Given the description of an element on the screen output the (x, y) to click on. 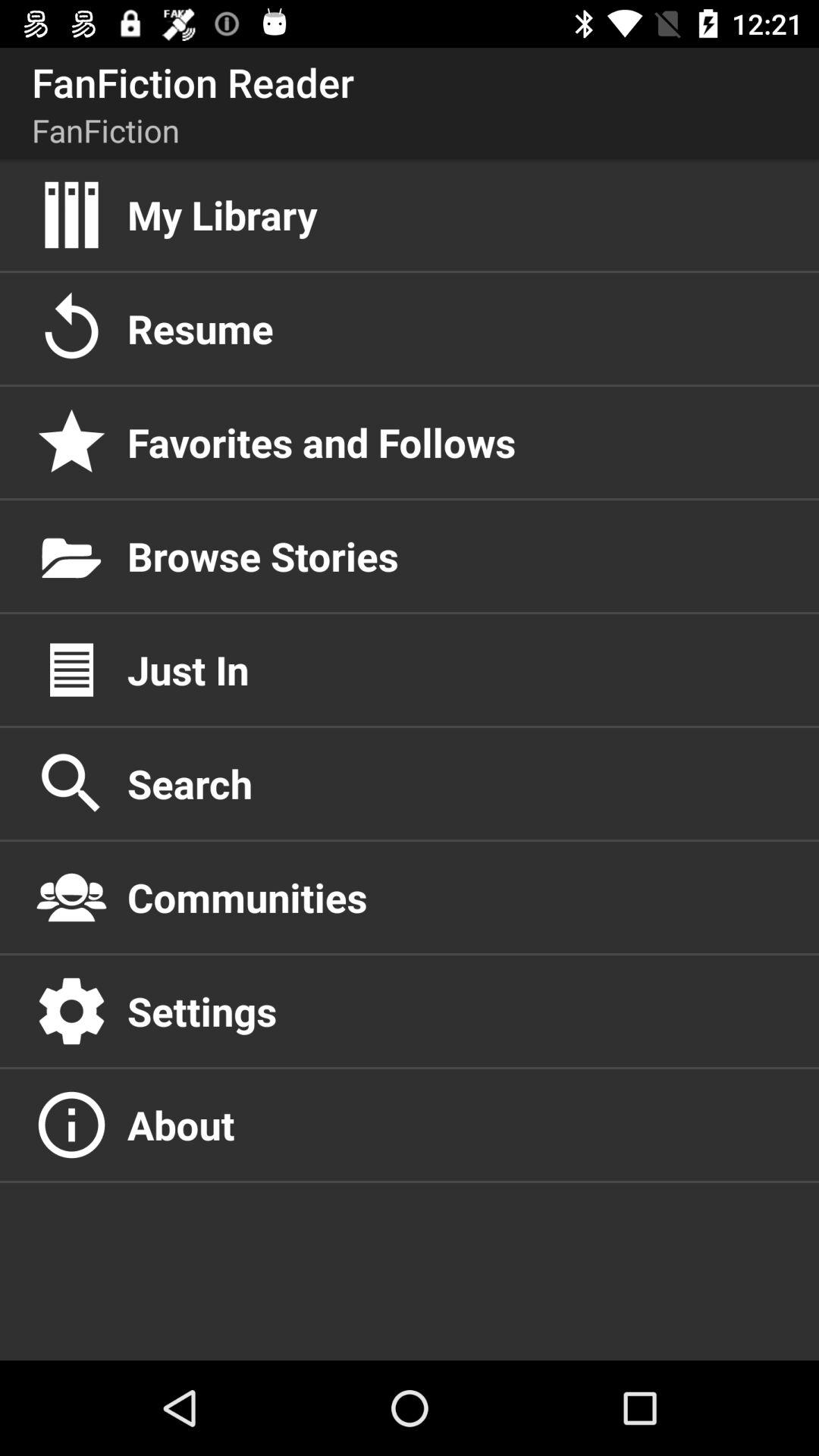
turn on the about (457, 1124)
